Given the description of an element on the screen output the (x, y) to click on. 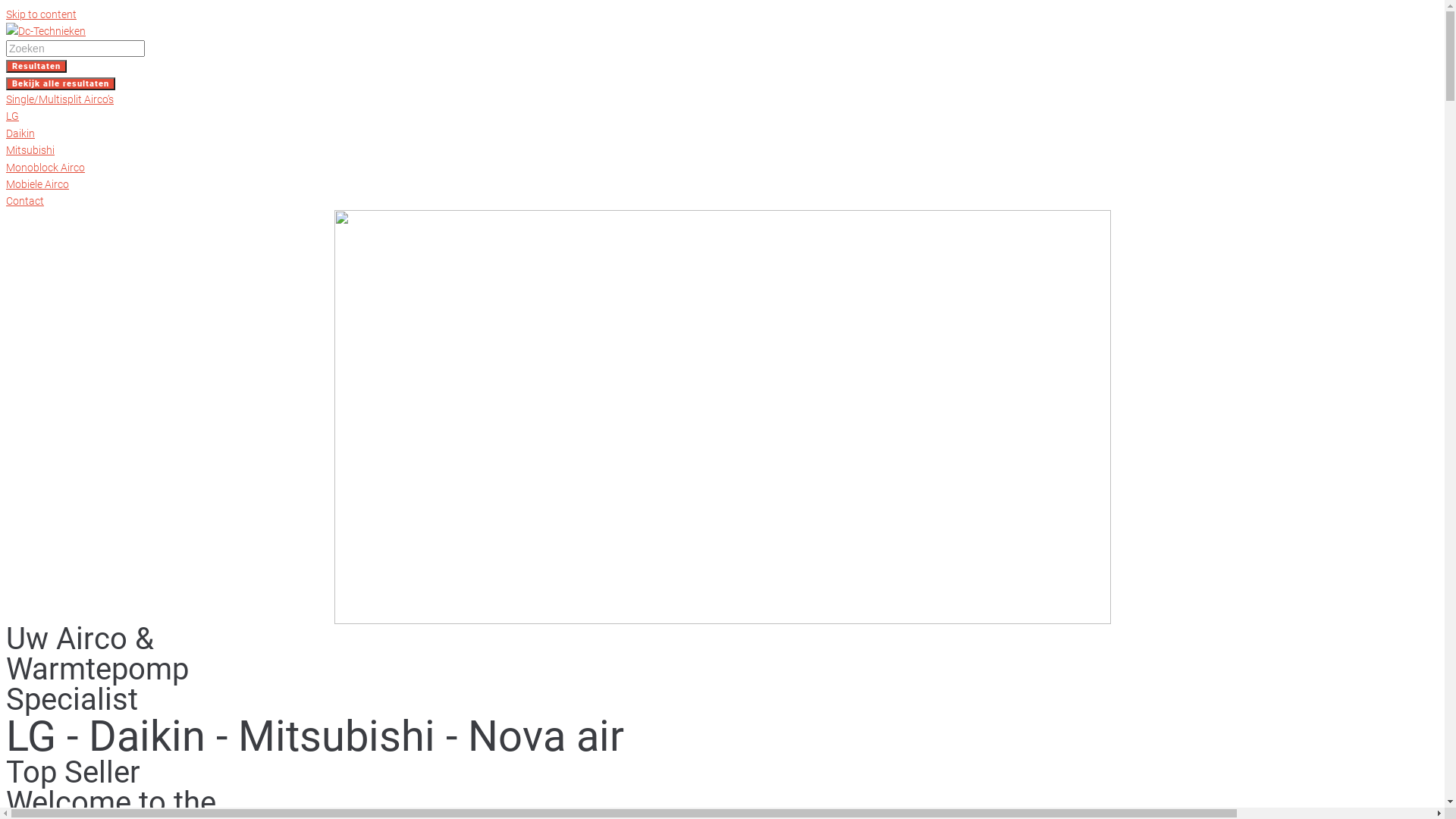
Mobiele Airco Element type: text (37, 184)
Contact Element type: text (24, 200)
Mitsubishi Element type: text (30, 150)
Bekijk alle resultaten Element type: text (60, 83)
Resultaten Element type: text (36, 65)
Skip to content Element type: text (41, 14)
LG Element type: text (12, 115)
Daikin Element type: text (20, 133)
Monoblock Airco Element type: text (45, 167)
